Given the description of an element on the screen output the (x, y) to click on. 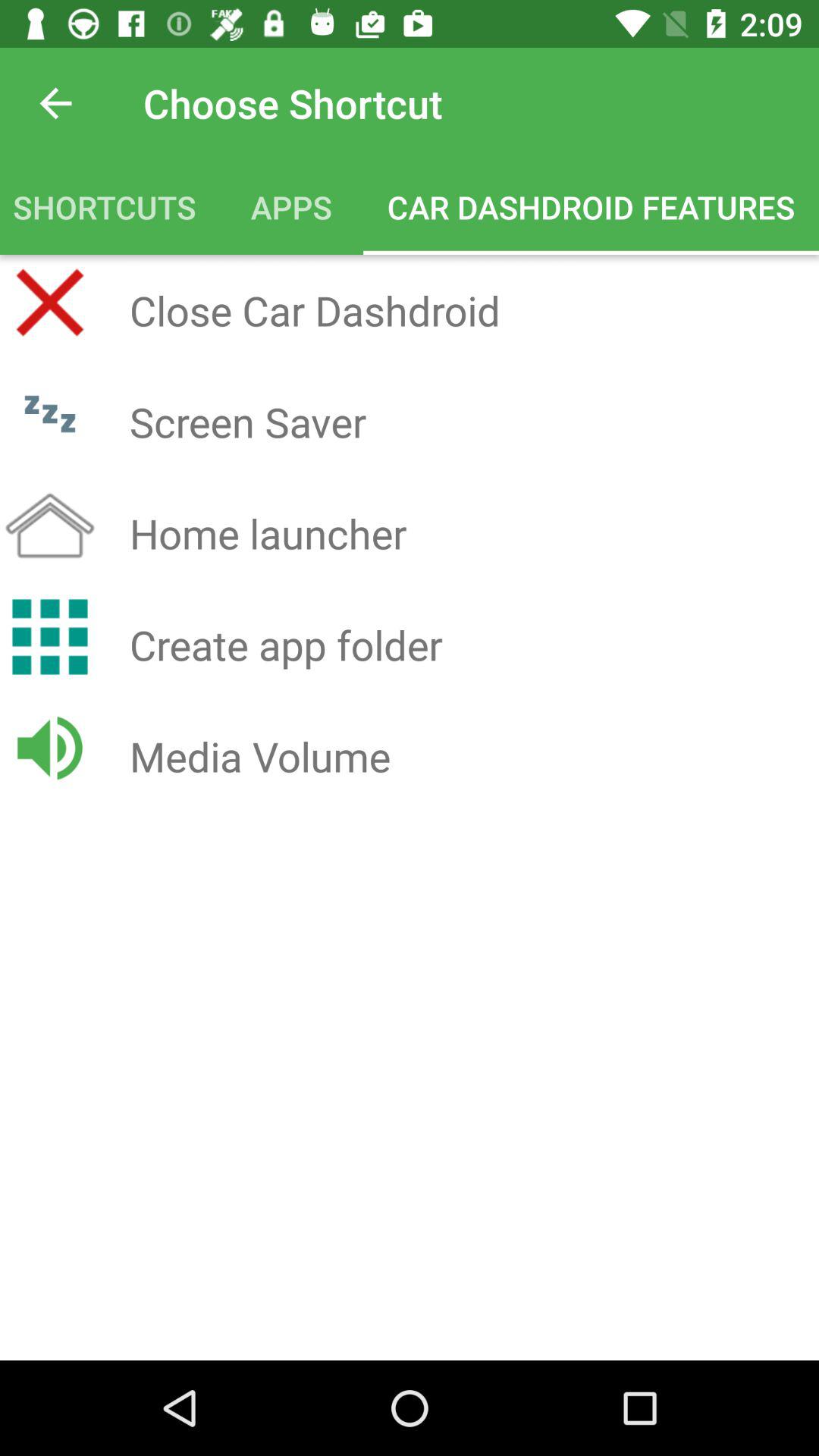
turn off the icon next to choose shortcut icon (55, 103)
